Given the description of an element on the screen output the (x, y) to click on. 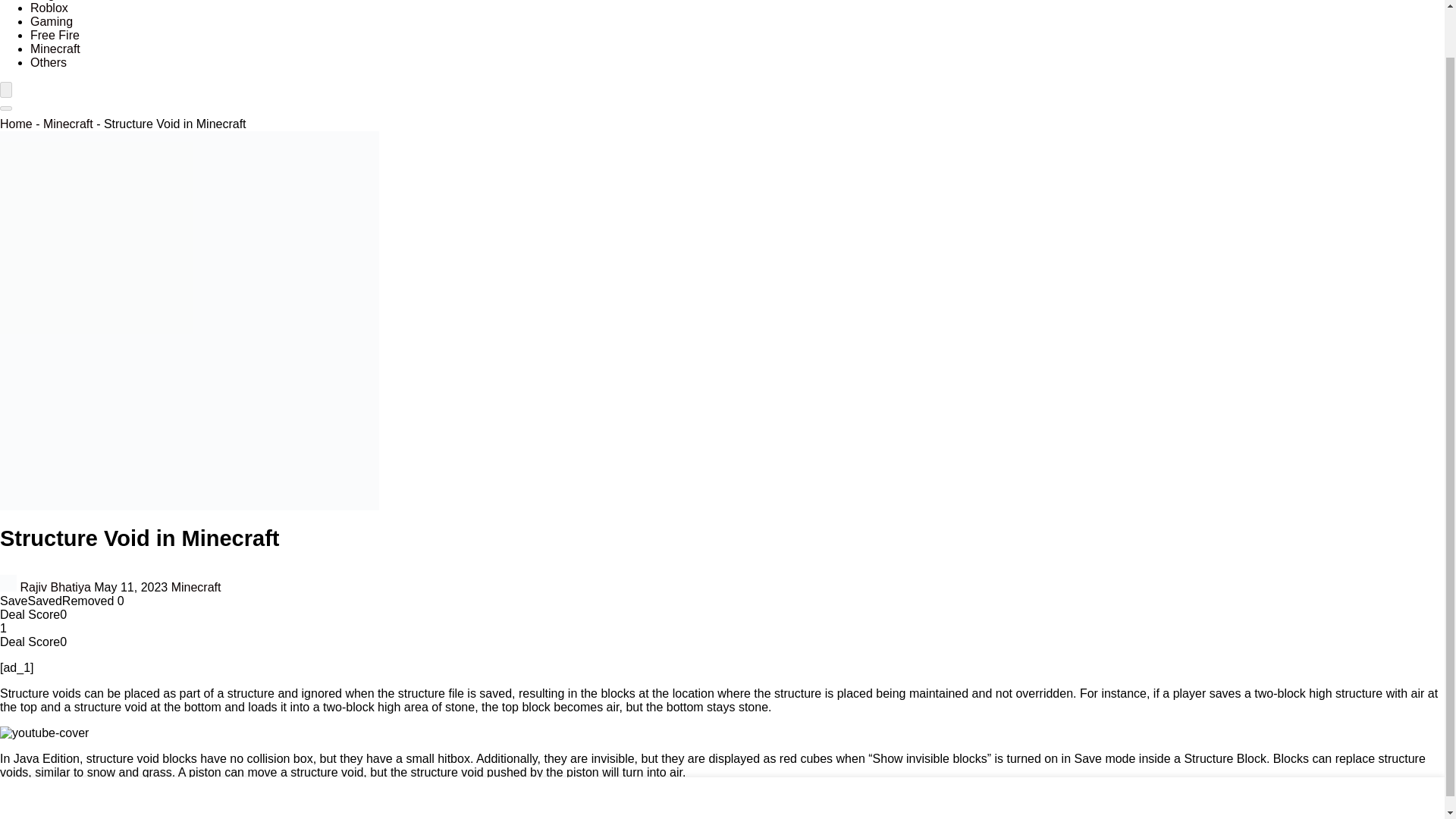
Rajiv Bhatiya (47, 586)
Minecraft (196, 586)
Minecraft (68, 123)
Gaming (51, 21)
Others (48, 62)
Free Fire (55, 34)
Home (16, 123)
Roblox (49, 7)
View all posts in Minecraft (196, 586)
